Given the description of an element on the screen output the (x, y) to click on. 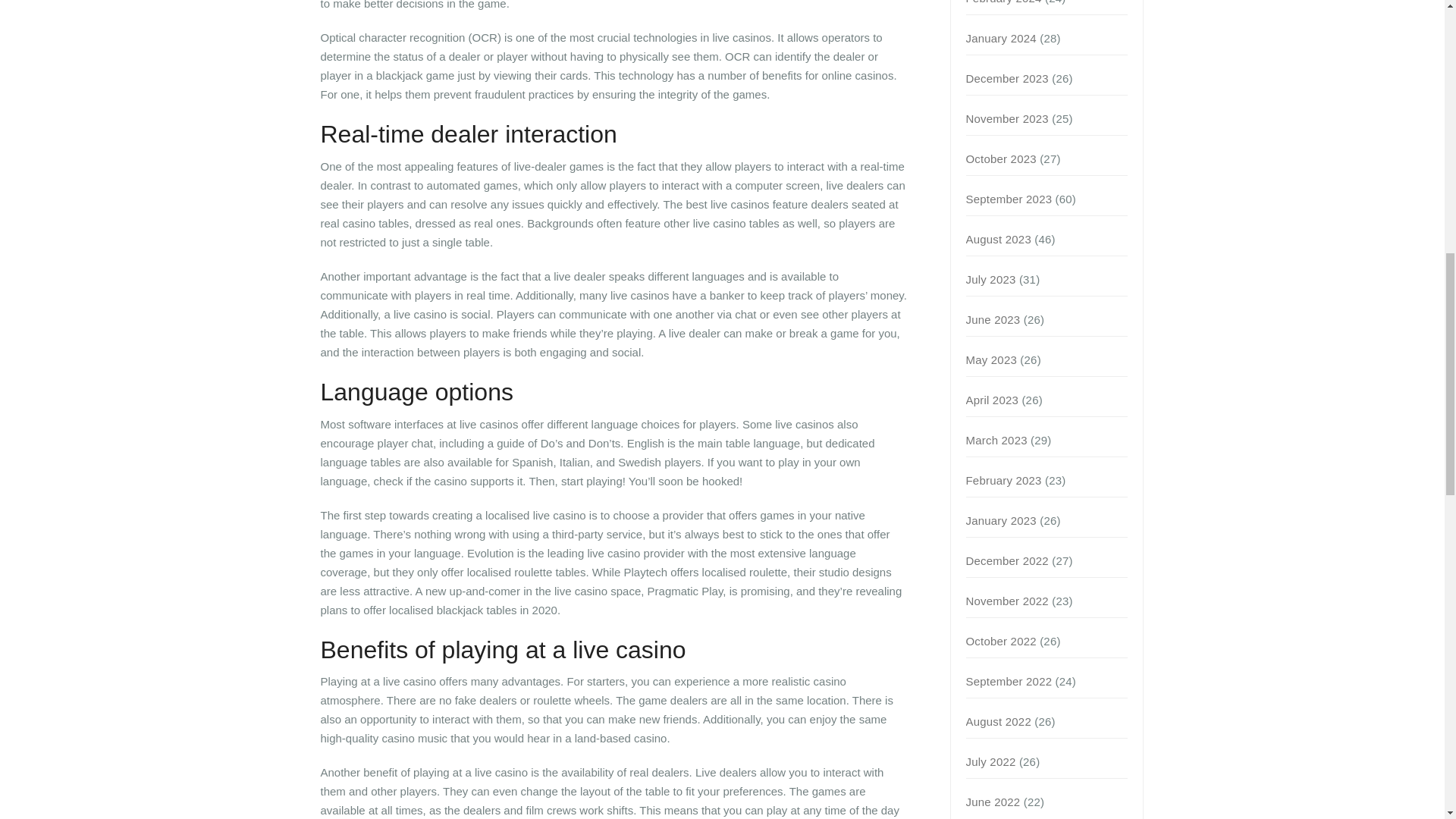
July 2023 (991, 278)
August 2023 (998, 238)
December 2022 (1007, 560)
January 2024 (1001, 38)
November 2023 (1007, 118)
October 2022 (1001, 640)
June 2023 (993, 318)
December 2023 (1007, 78)
January 2023 (1001, 520)
June 2022 (993, 801)
